Given the description of an element on the screen output the (x, y) to click on. 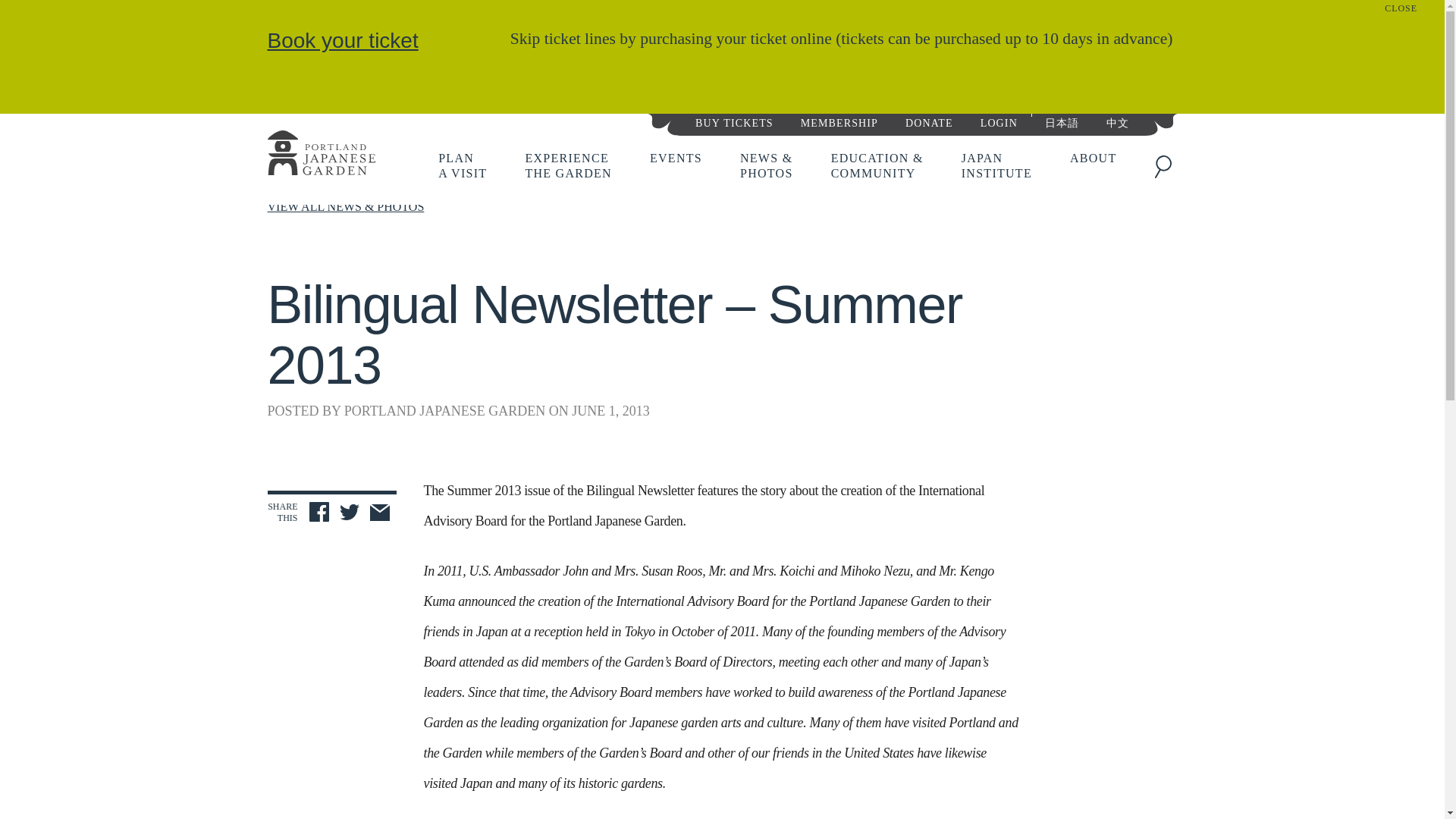
BUY TICKETS (567, 165)
Book your ticket (734, 120)
MEMBERSHIP (341, 40)
Click to share on Twitter (839, 120)
Portland Japanese Garden (462, 165)
DONATE (349, 514)
Click to email a link to a friend (320, 155)
Click to share on Facebook (928, 120)
LOGIN (379, 514)
